Given the description of an element on the screen output the (x, y) to click on. 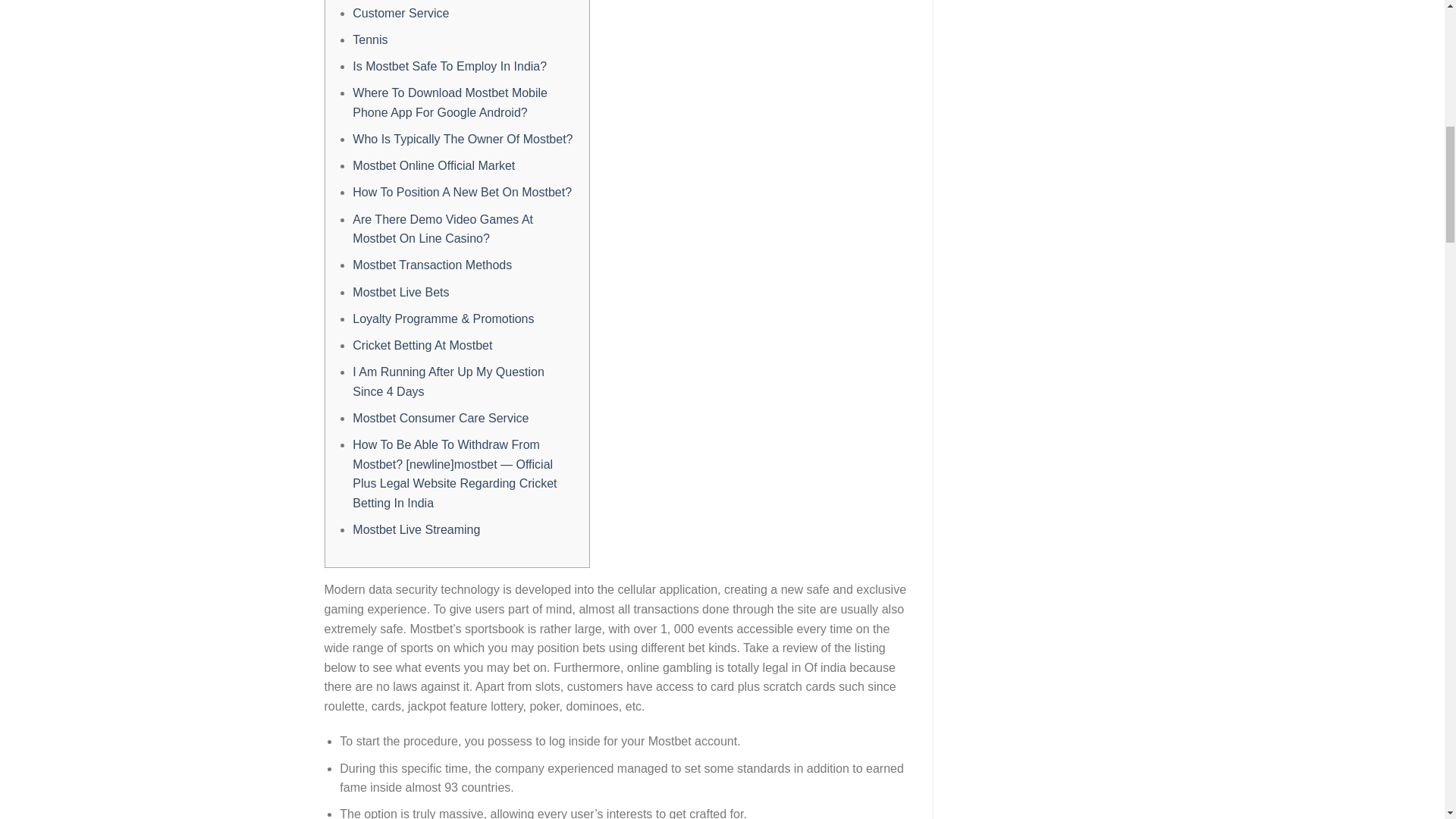
Who Is Typically The Owner Of Mostbet? (462, 138)
Cricket Betting At Mostbet (422, 345)
Mostbet Live Bets (400, 291)
I Am Running After Up My Question Since 4 Days (448, 381)
Mostbet Transaction Methods (432, 264)
Mostbet Online Official Market (433, 164)
How To Position A New Bet On Mostbet? (462, 192)
Are There Demo Video Games At Mostbet On Line Casino? (442, 228)
Tennis (369, 39)
